Given the description of an element on the screen output the (x, y) to click on. 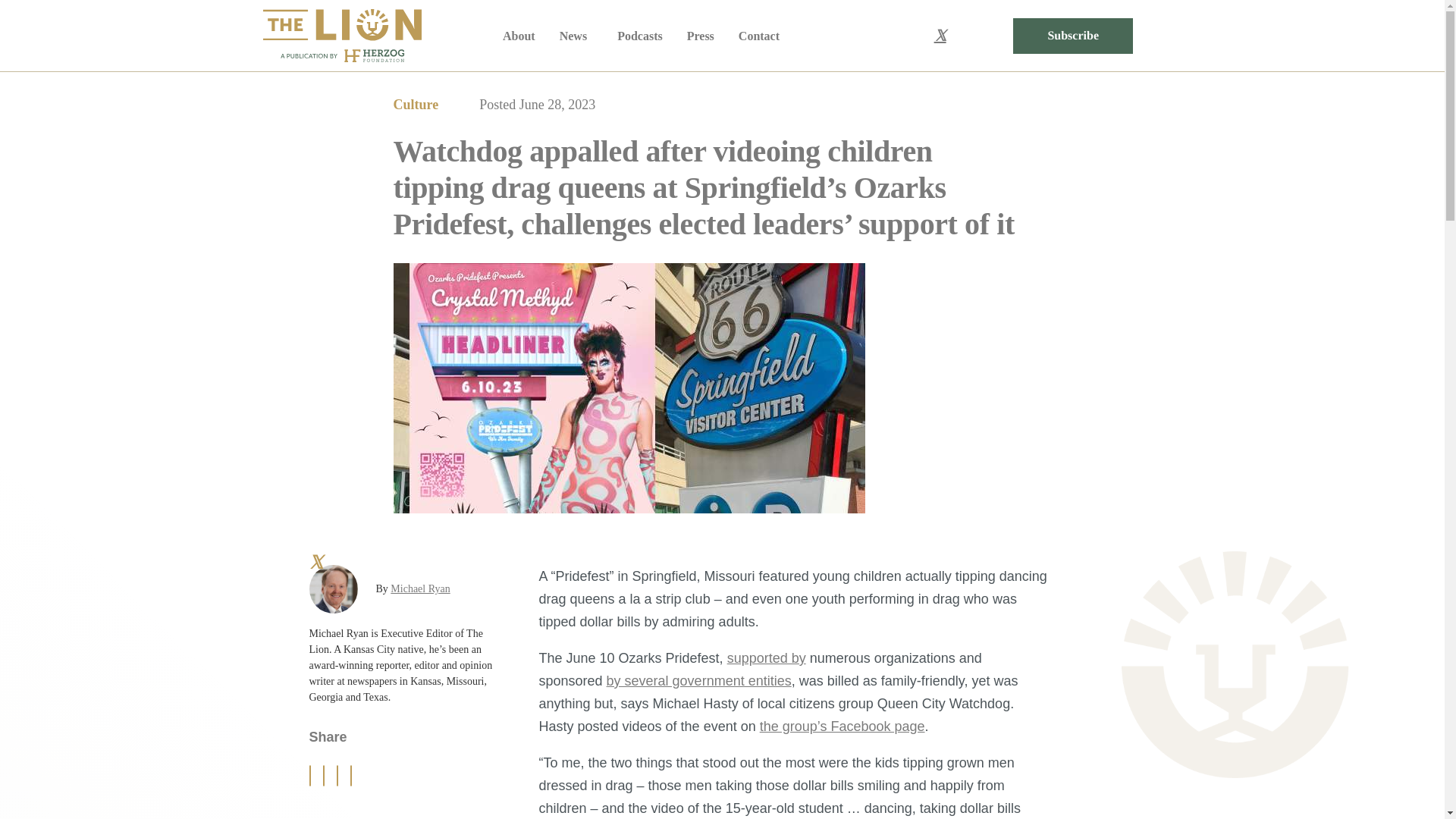
Subscribe (1072, 36)
Contact (758, 35)
Podcasts (639, 35)
News (575, 35)
Press (700, 35)
Culture (415, 104)
About (518, 35)
